Given the description of an element on the screen output the (x, y) to click on. 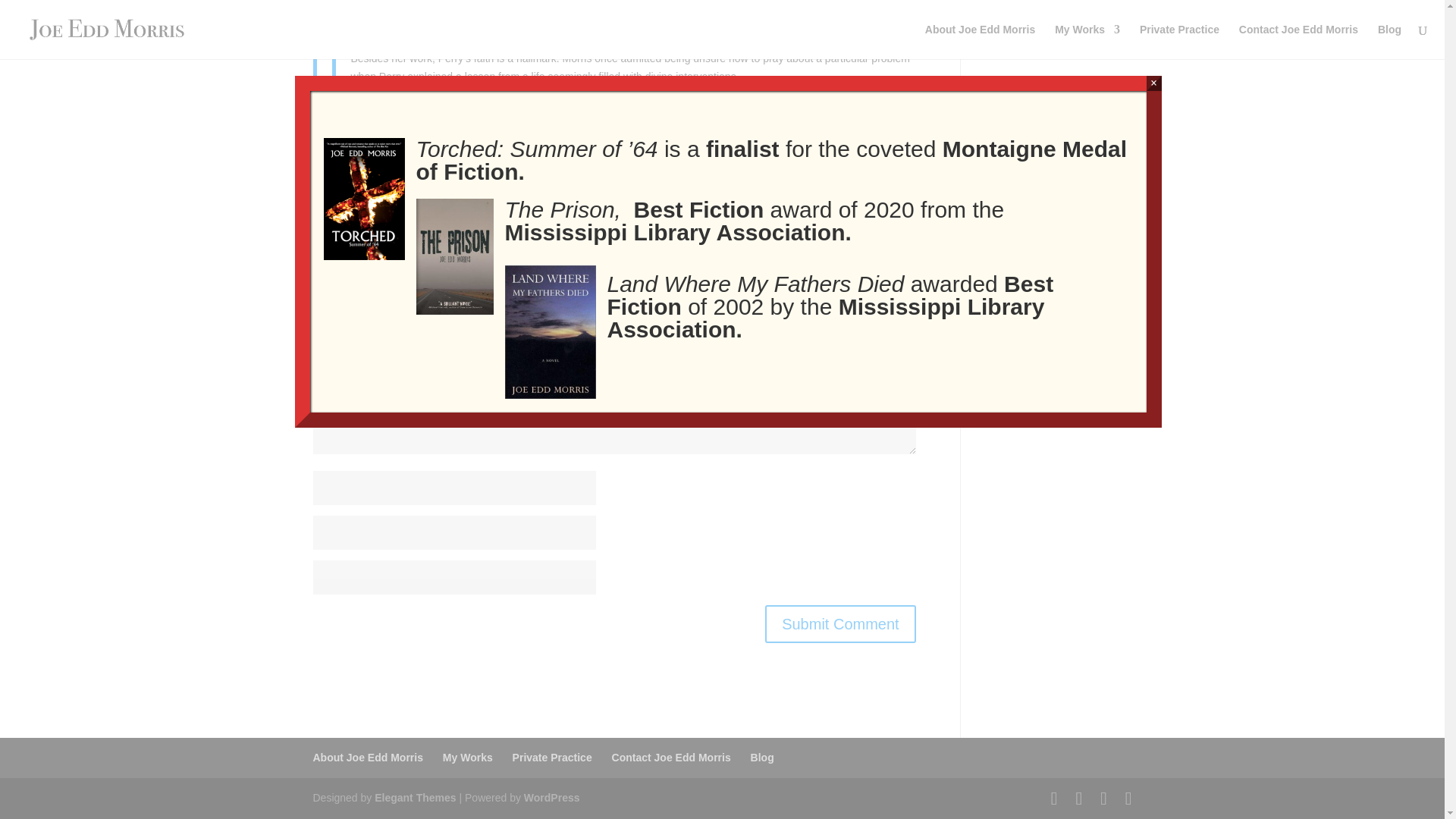
Submit Comment (840, 623)
